Given the description of an element on the screen output the (x, y) to click on. 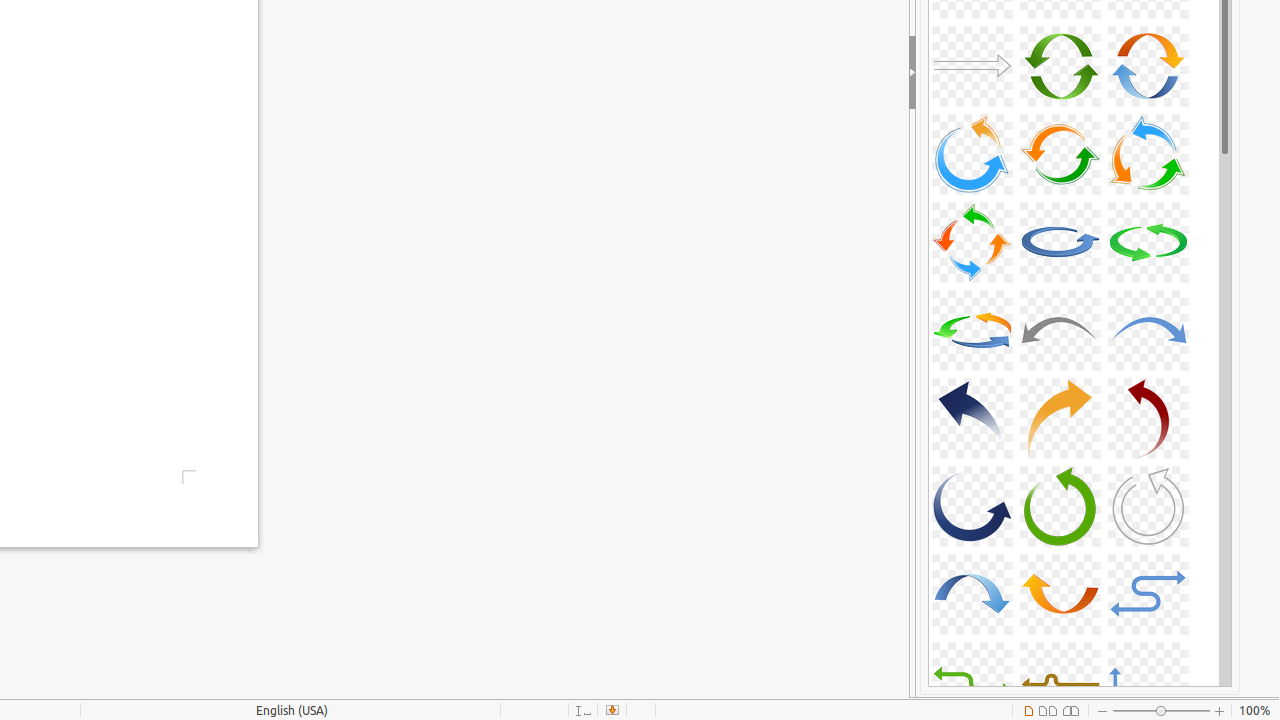
A31-CurvedArrow-LightBlue Element type: list-item (972, 594)
